Given the description of an element on the screen output the (x, y) to click on. 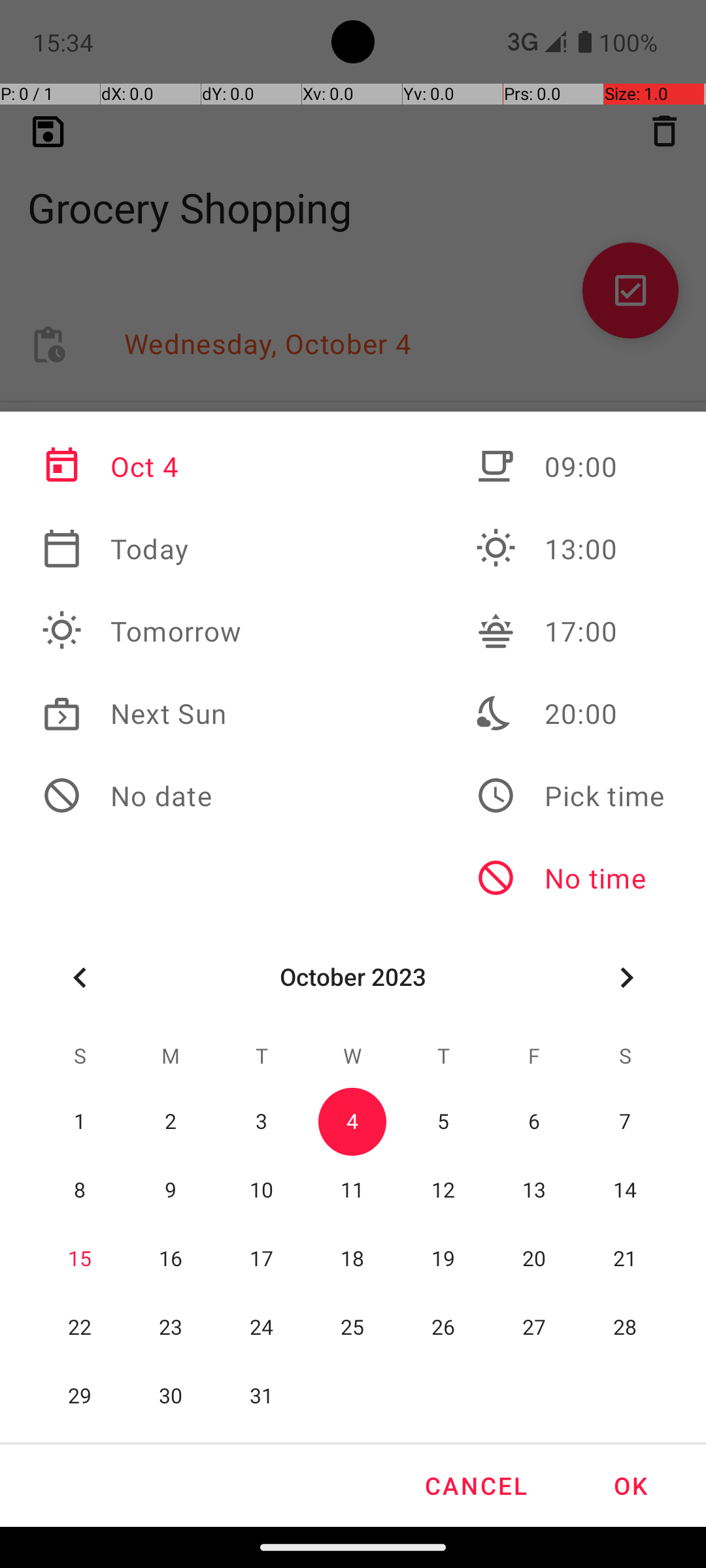
Oct 4 Element type: android.widget.CompoundButton (141, 466)
